Given the description of an element on the screen output the (x, y) to click on. 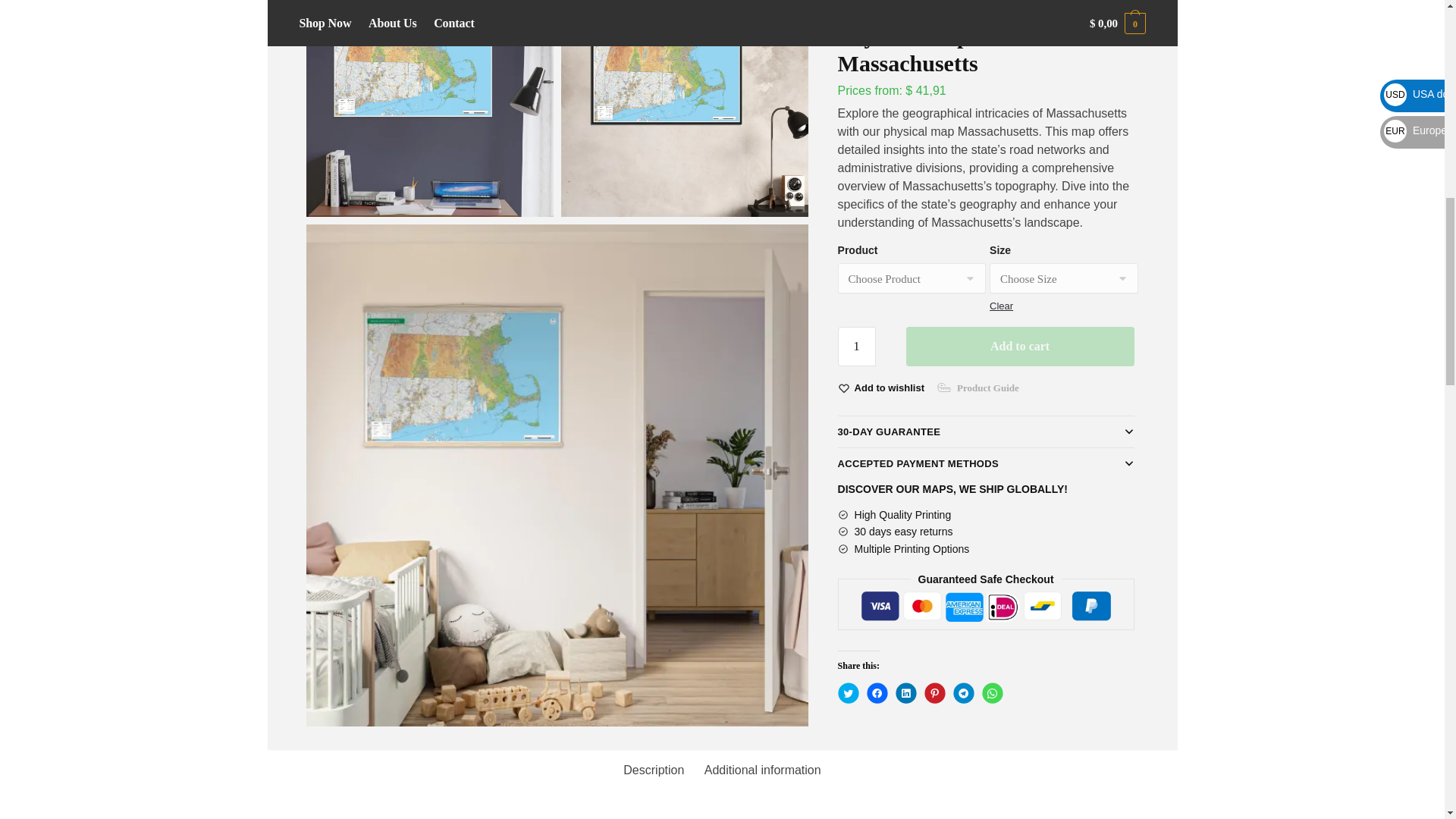
click to zoom-in (429, 108)
click to zoom-in (684, 108)
